Given the description of an element on the screen output the (x, y) to click on. 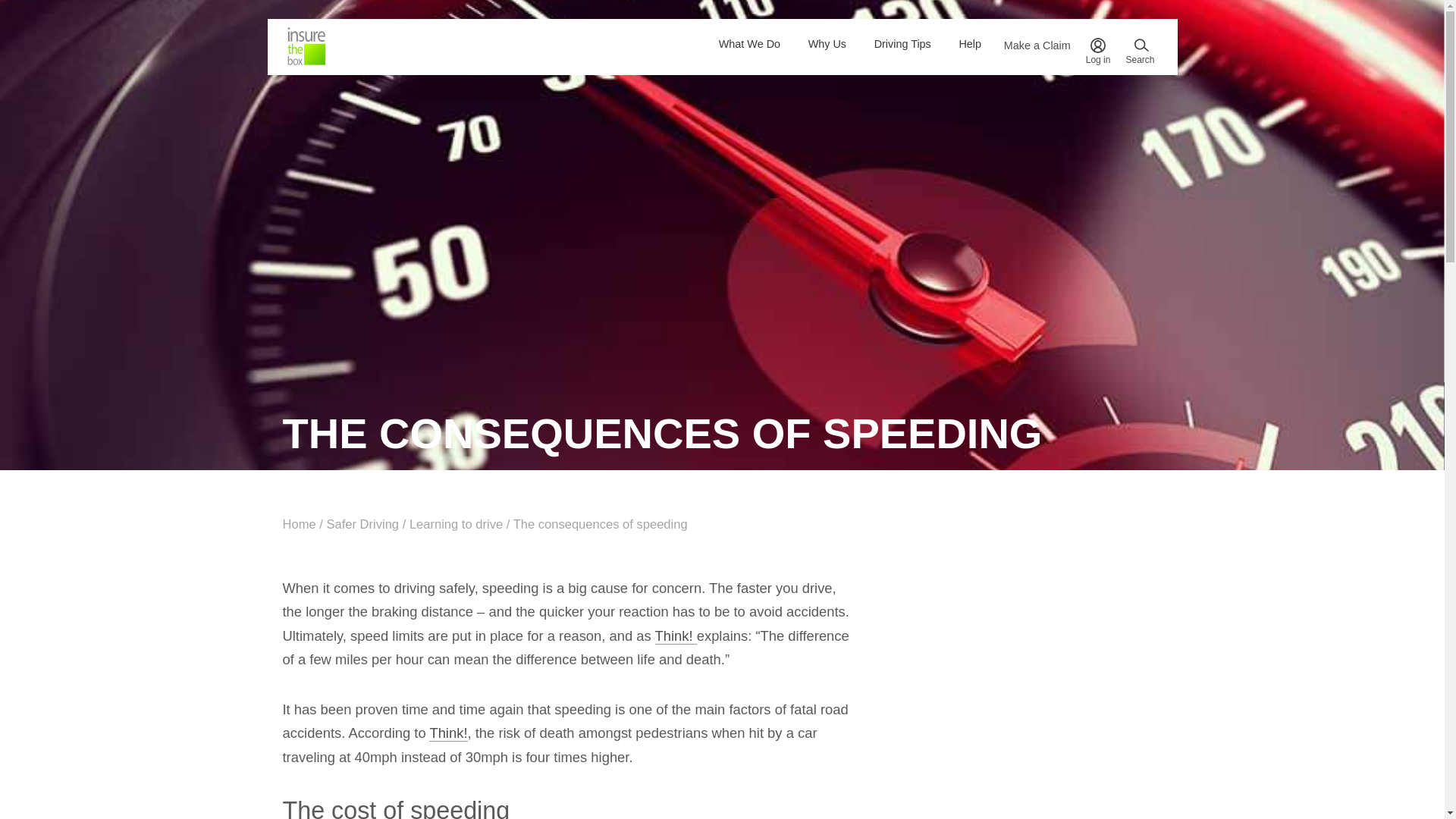
Help (970, 43)
The consequences of speeding (600, 523)
Making a Claim (770, 586)
Passing Your Driving Test (792, 568)
What We Do (749, 43)
Learning to drive (455, 523)
Think! (448, 733)
Driving Tips (762, 550)
Facebook (750, 712)
Safer Driving (362, 523)
